Given the description of an element on the screen output the (x, y) to click on. 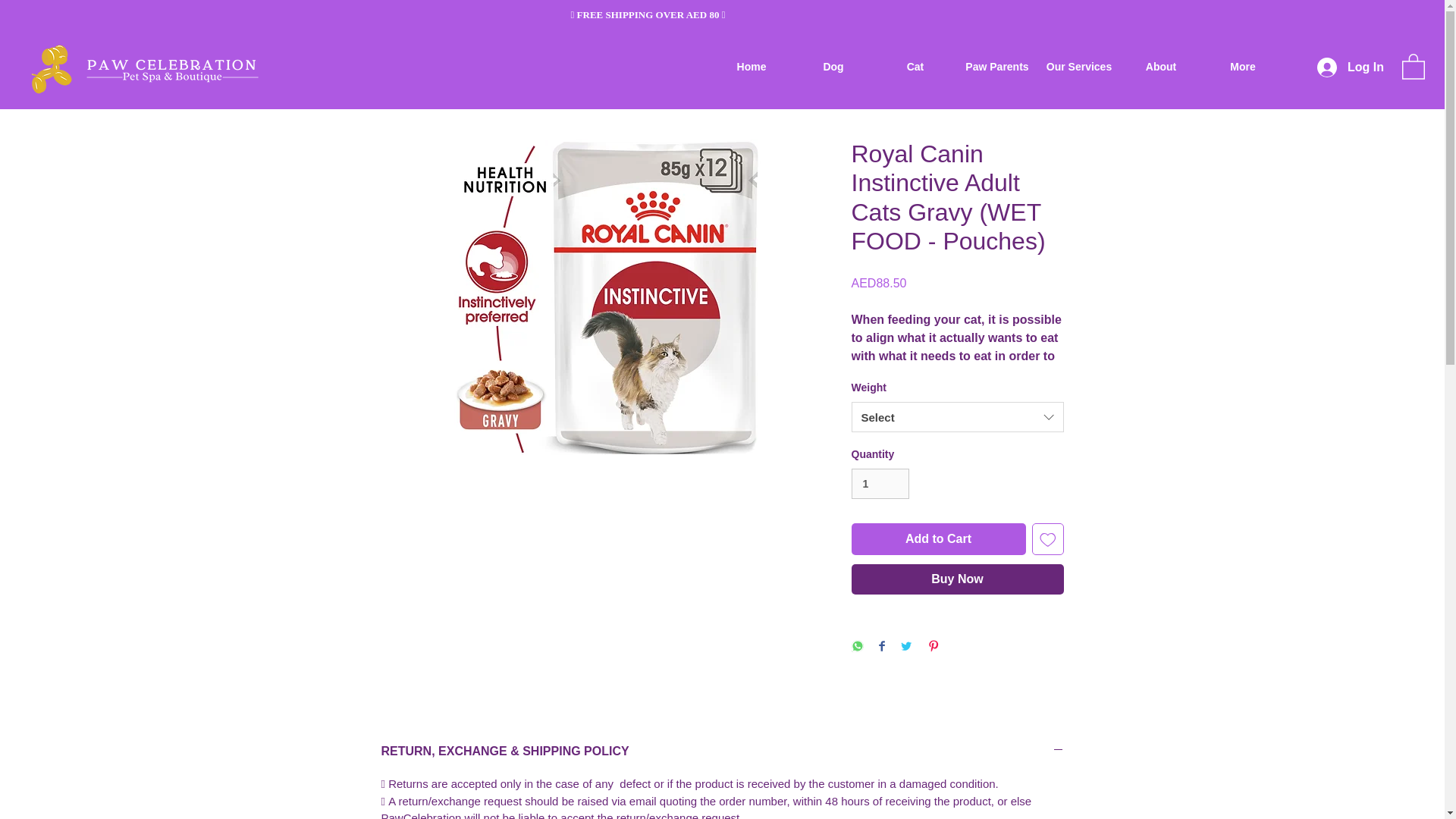
1 (879, 483)
Home (751, 67)
About (1161, 67)
Our Services (1079, 67)
Buy Now (956, 579)
Cat (914, 67)
Dog (833, 67)
Log In (1350, 67)
Paw Parents (996, 67)
Add to Cart (937, 539)
Select (956, 417)
